Given the description of an element on the screen output the (x, y) to click on. 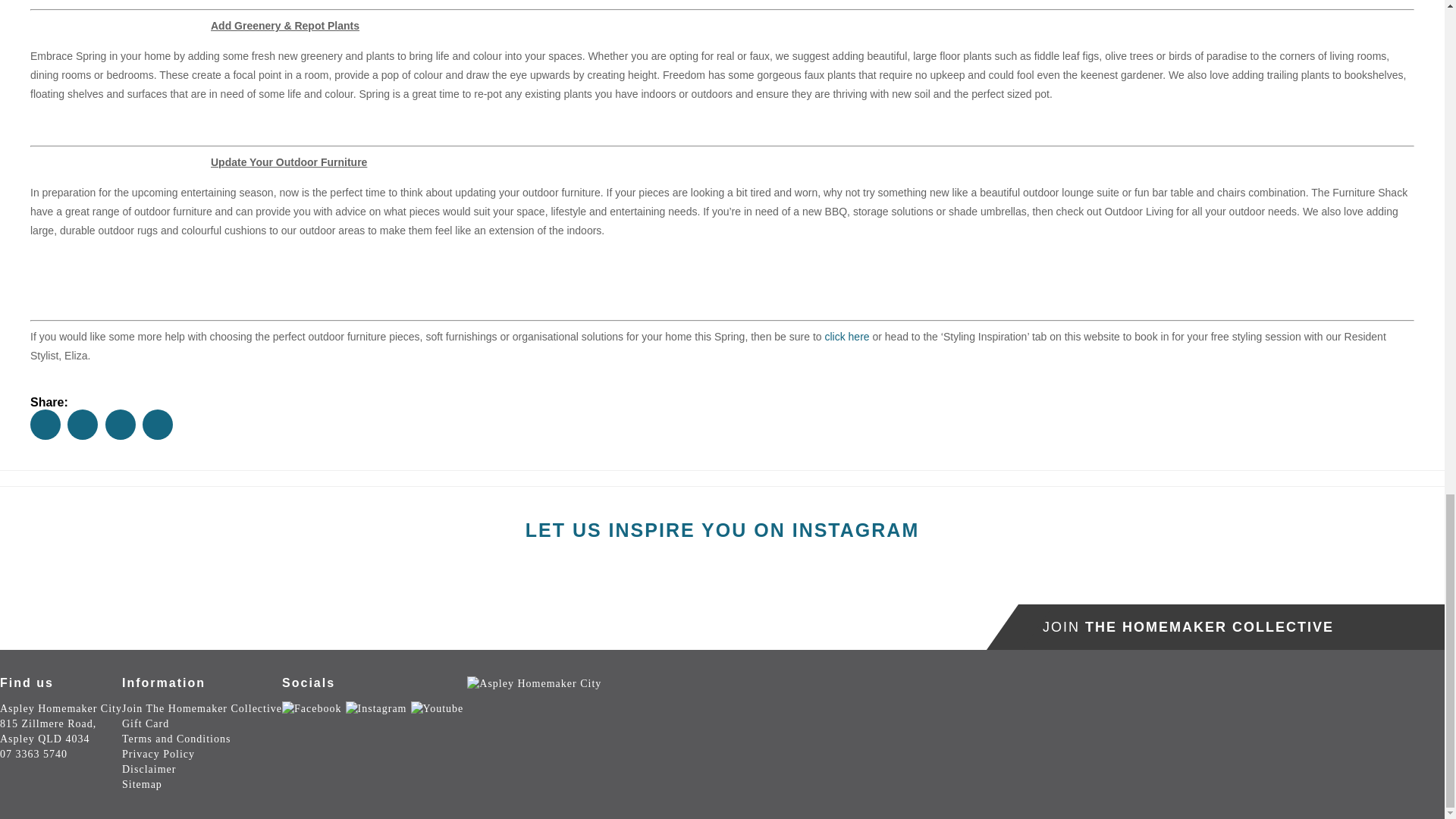
07 3363 5740 (33, 754)
Aspley Homemaker City (534, 683)
Join The Homemaker Collective (61, 723)
Facebook (202, 708)
Terms and Conditions (311, 708)
Youtube (176, 738)
Gift Card (437, 708)
click here (145, 723)
Instagram (846, 336)
